Given the description of an element on the screen output the (x, y) to click on. 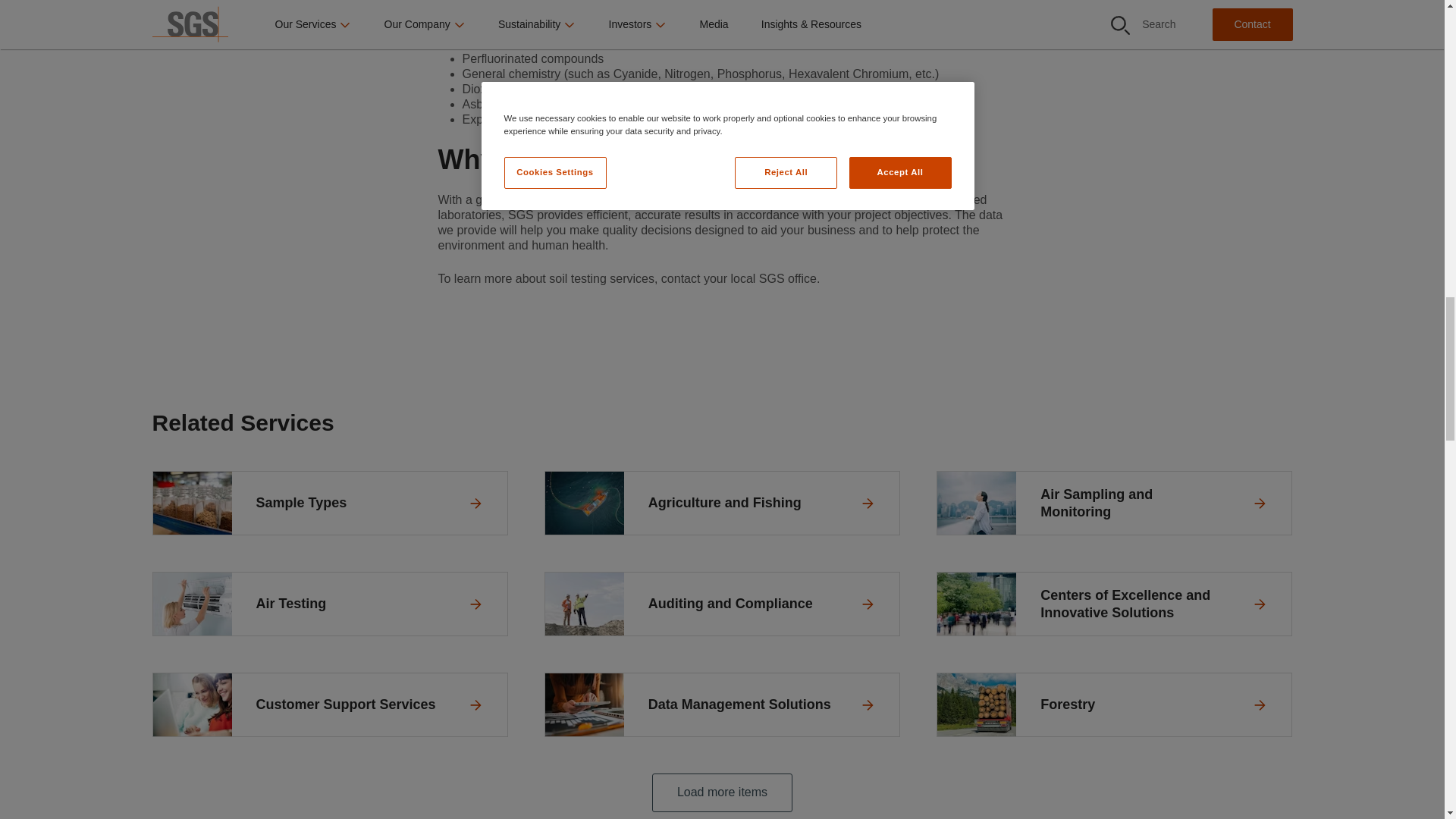
Auditing and Compliance (721, 603)
Agriculture and Fishing (721, 502)
Air Testing (329, 603)
Load more items (722, 792)
Sample Types (329, 502)
Customer Support Services (329, 704)
Air Sampling and Monitoring (1114, 502)
Forestry (1114, 704)
Data Management Solutions (721, 704)
Centers of Excellence and Innovative Solutions (1114, 603)
